Given the description of an element on the screen output the (x, y) to click on. 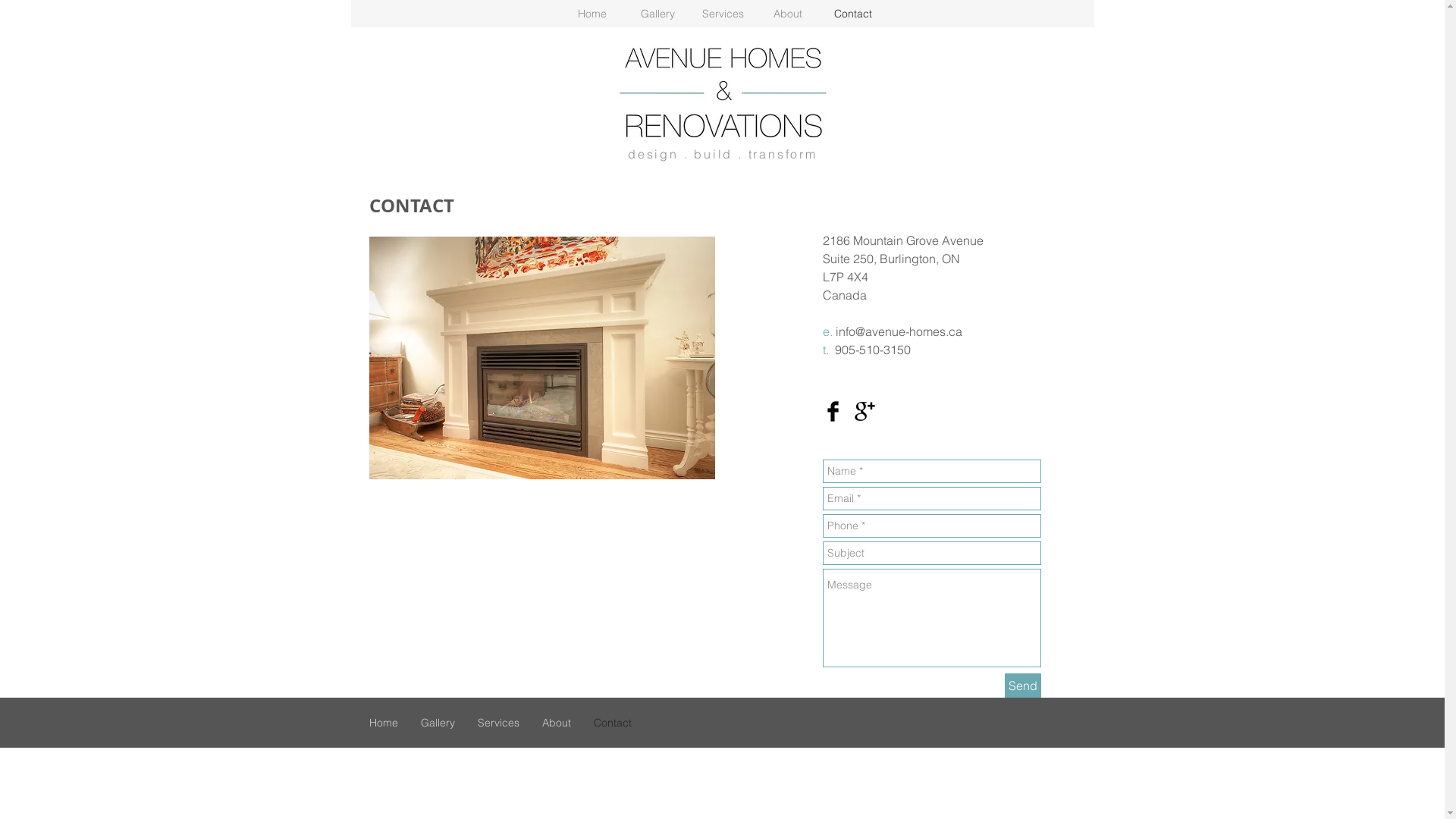
Gallery Element type: text (437, 722)
About Element type: text (787, 13)
Send Element type: text (1022, 685)
Home Element type: text (383, 722)
info@avenue-homes.ca Element type: text (898, 330)
Services Element type: text (722, 13)
Contact Element type: text (852, 13)
About Element type: text (556, 722)
Gallery Element type: text (657, 13)
Site Search Element type: hover (1012, 44)
Avenue-Homes-Fireplace9.jpg Element type: hover (541, 357)
Services Element type: text (497, 722)
Contact Element type: text (612, 722)
Home Element type: text (591, 13)
